Given the description of an element on the screen output the (x, y) to click on. 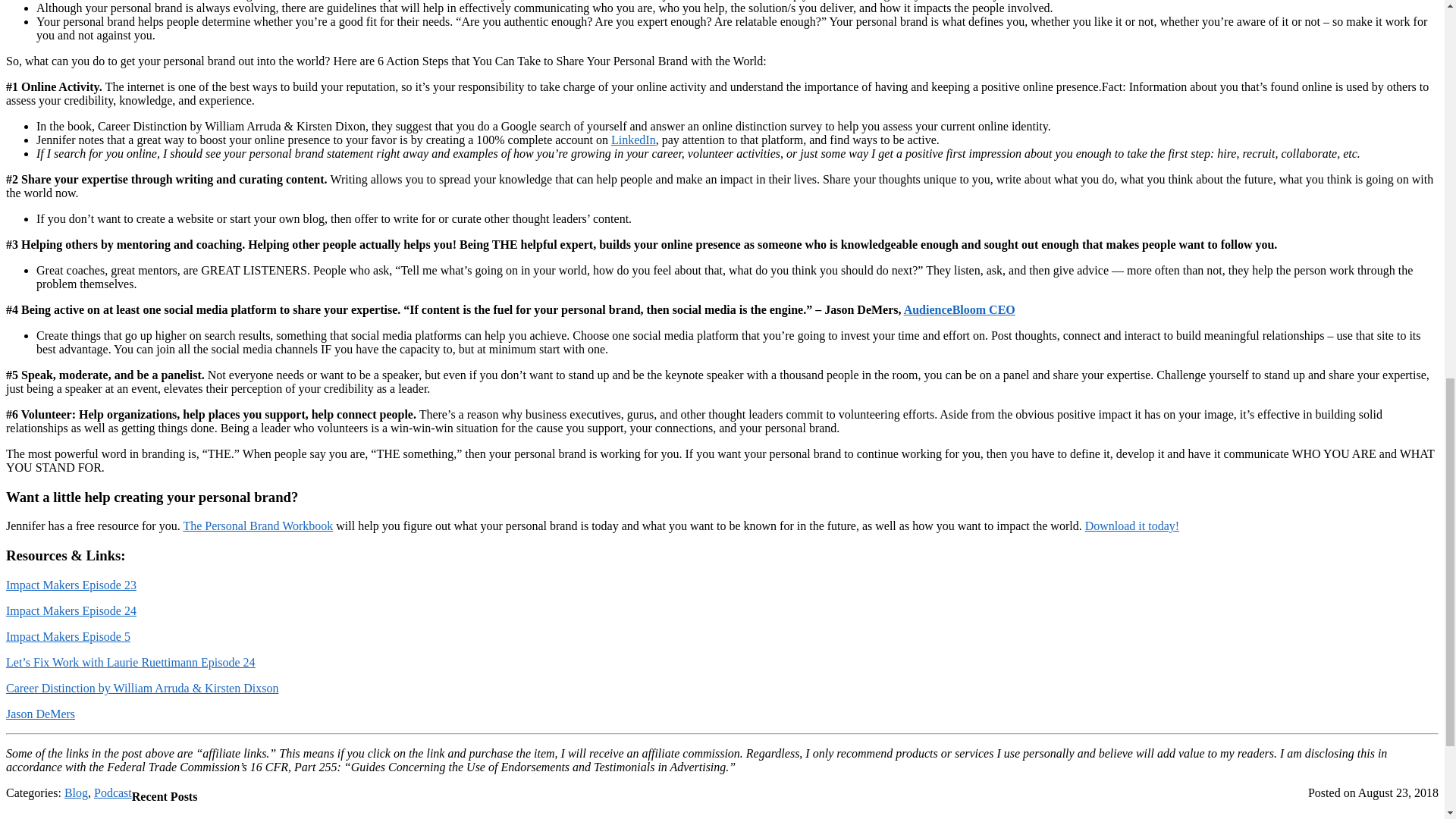
Podcast (113, 792)
Blog (75, 792)
Impact Makers Episode 24 (70, 610)
LinkedIn (633, 139)
AudienceBloom CEO (959, 309)
Impact Makers Episode 5 (68, 635)
Jason DeMers (40, 713)
The Personal Brand Workbook (258, 525)
Download it today! (1131, 525)
Impact Makers Episode 23 (70, 584)
